Given the description of an element on the screen output the (x, y) to click on. 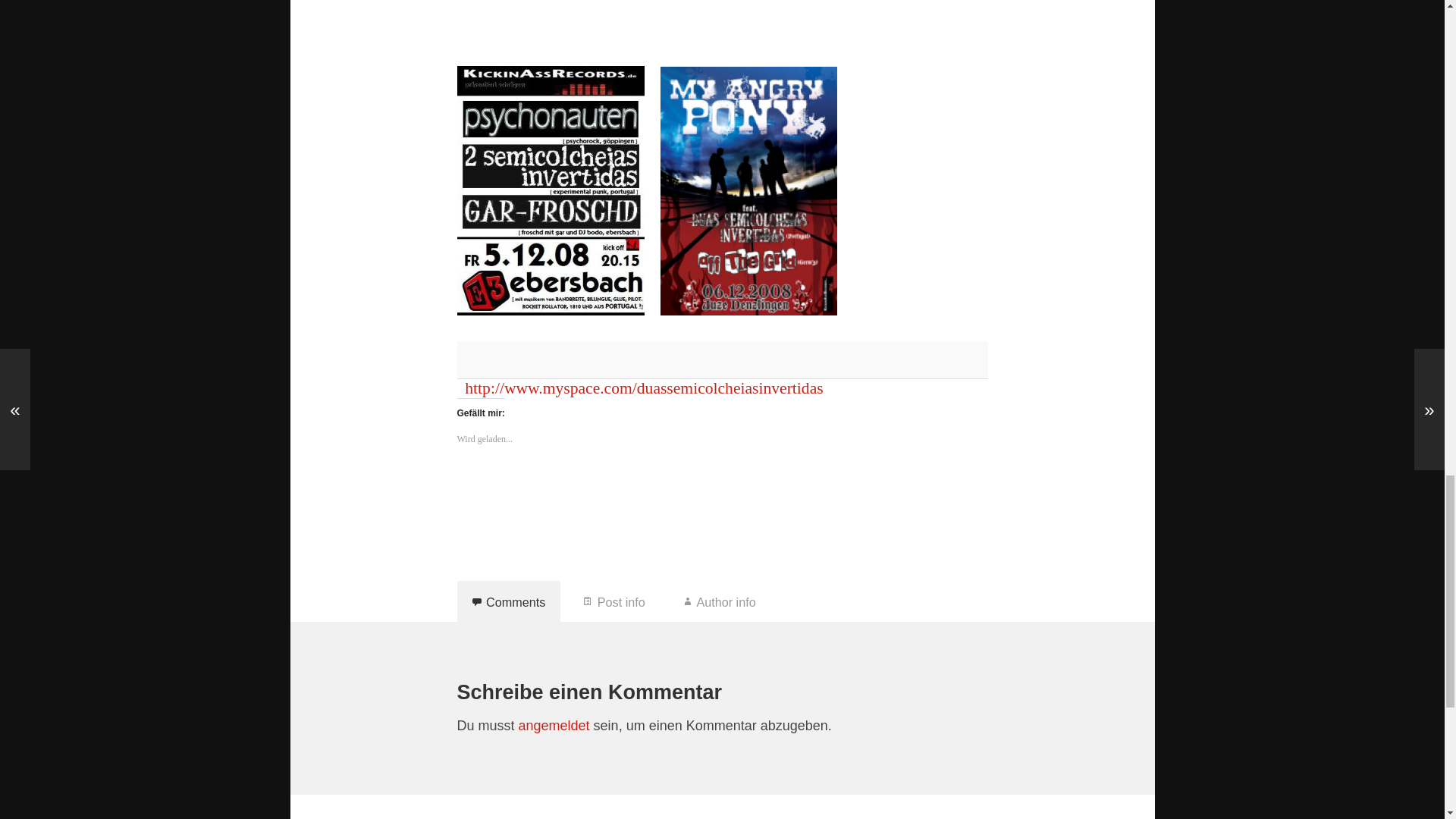
Liken oder rebloggen (722, 490)
Author info (719, 600)
Comments (508, 600)
angemeldet (553, 725)
Post info (614, 600)
